Given the description of an element on the screen output the (x, y) to click on. 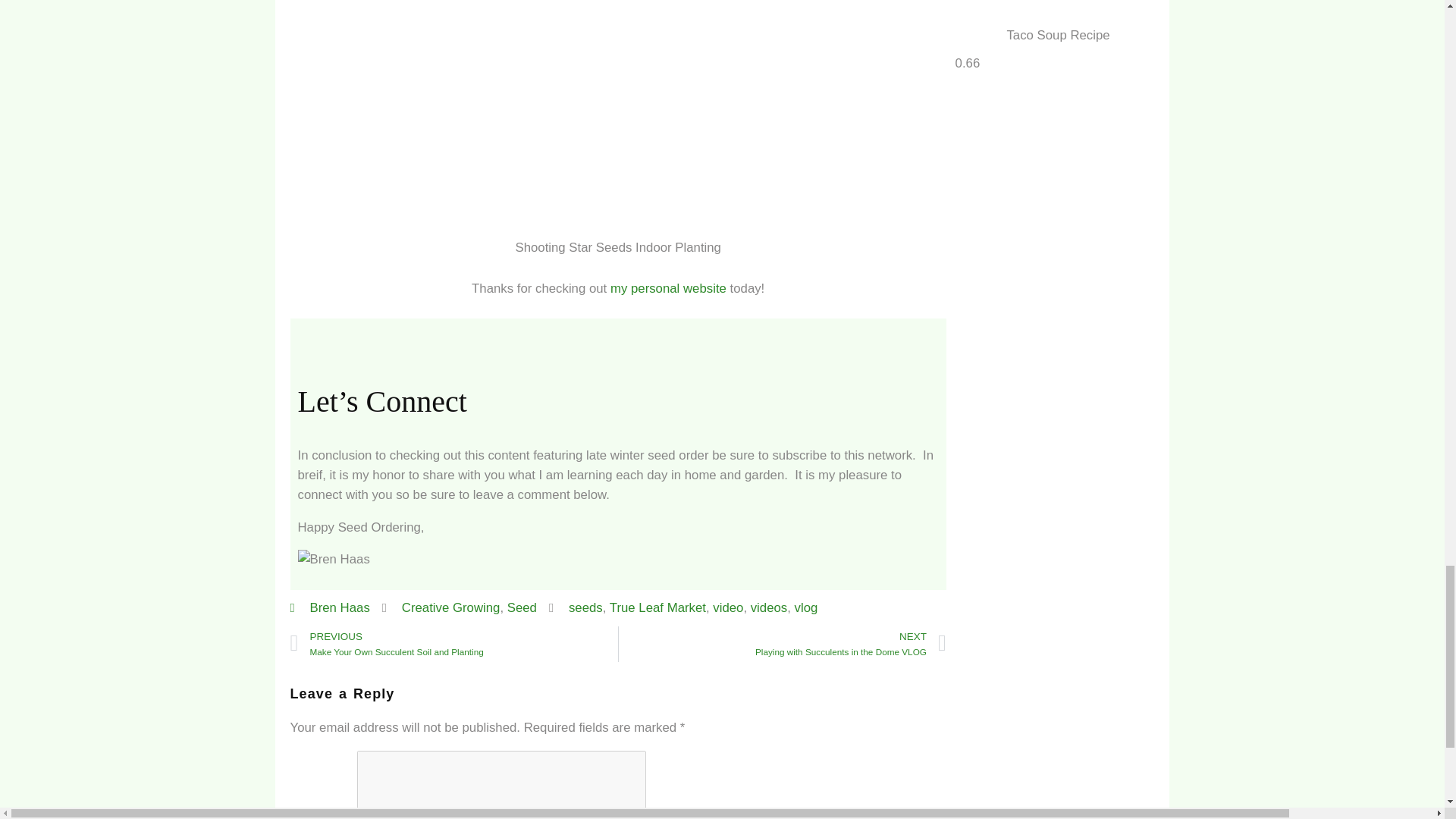
Seed (521, 607)
Bren Haas (329, 608)
my personal website (453, 643)
seeds (668, 288)
videos (585, 607)
True Leaf Market (782, 643)
vlog (769, 607)
Creative Growing (658, 607)
